Given the description of an element on the screen output the (x, y) to click on. 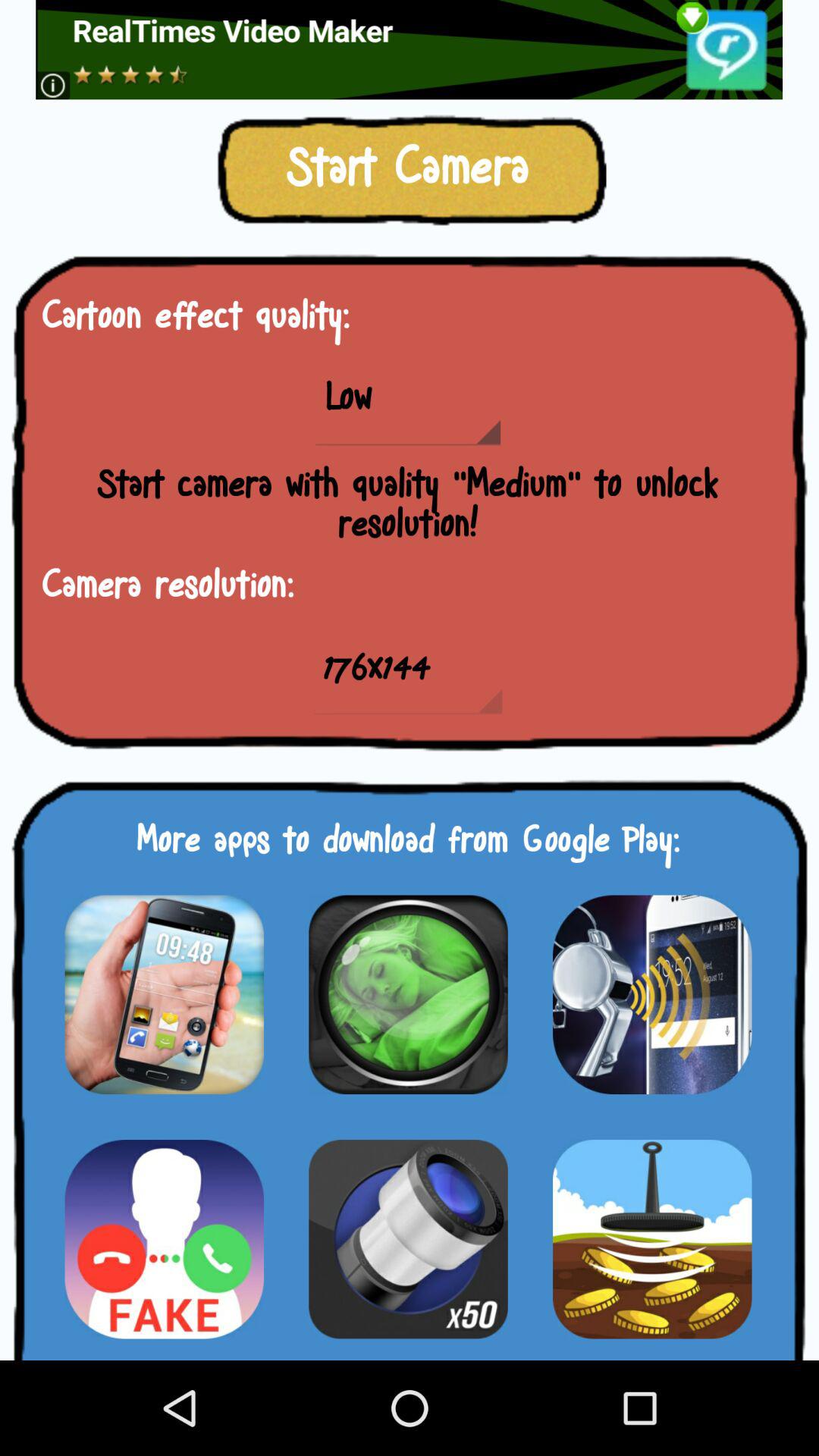
download whistle app (652, 994)
